Given the description of an element on the screen output the (x, y) to click on. 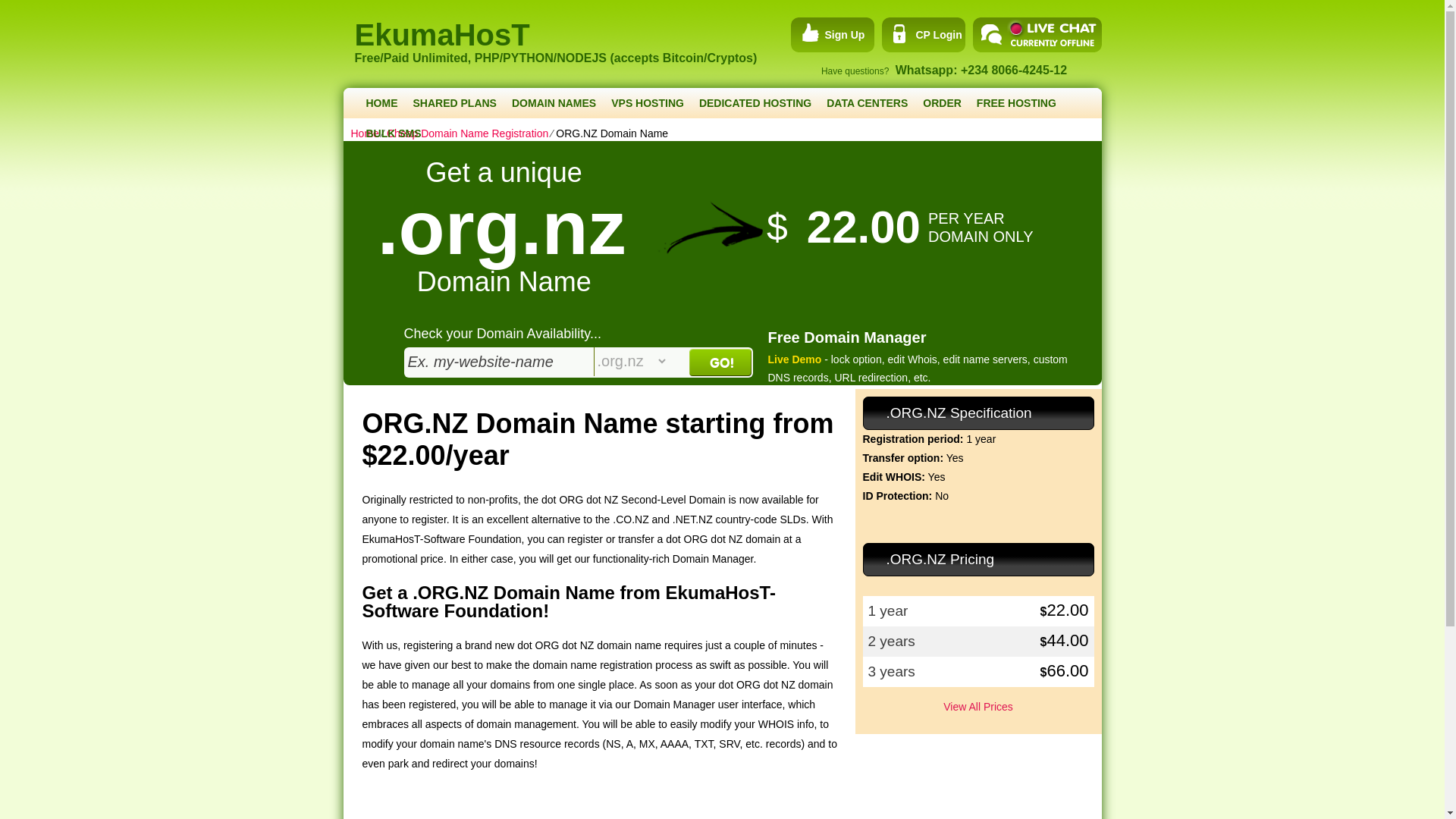
sign up (827, 34)
client login (920, 34)
DOMAIN NAMES (553, 102)
VPS HOSTING (647, 102)
BULK SMS (393, 132)
text (498, 361)
ORDER (942, 102)
EkumaHosT (572, 26)
CP Login (920, 34)
Home (364, 133)
